Given the description of an element on the screen output the (x, y) to click on. 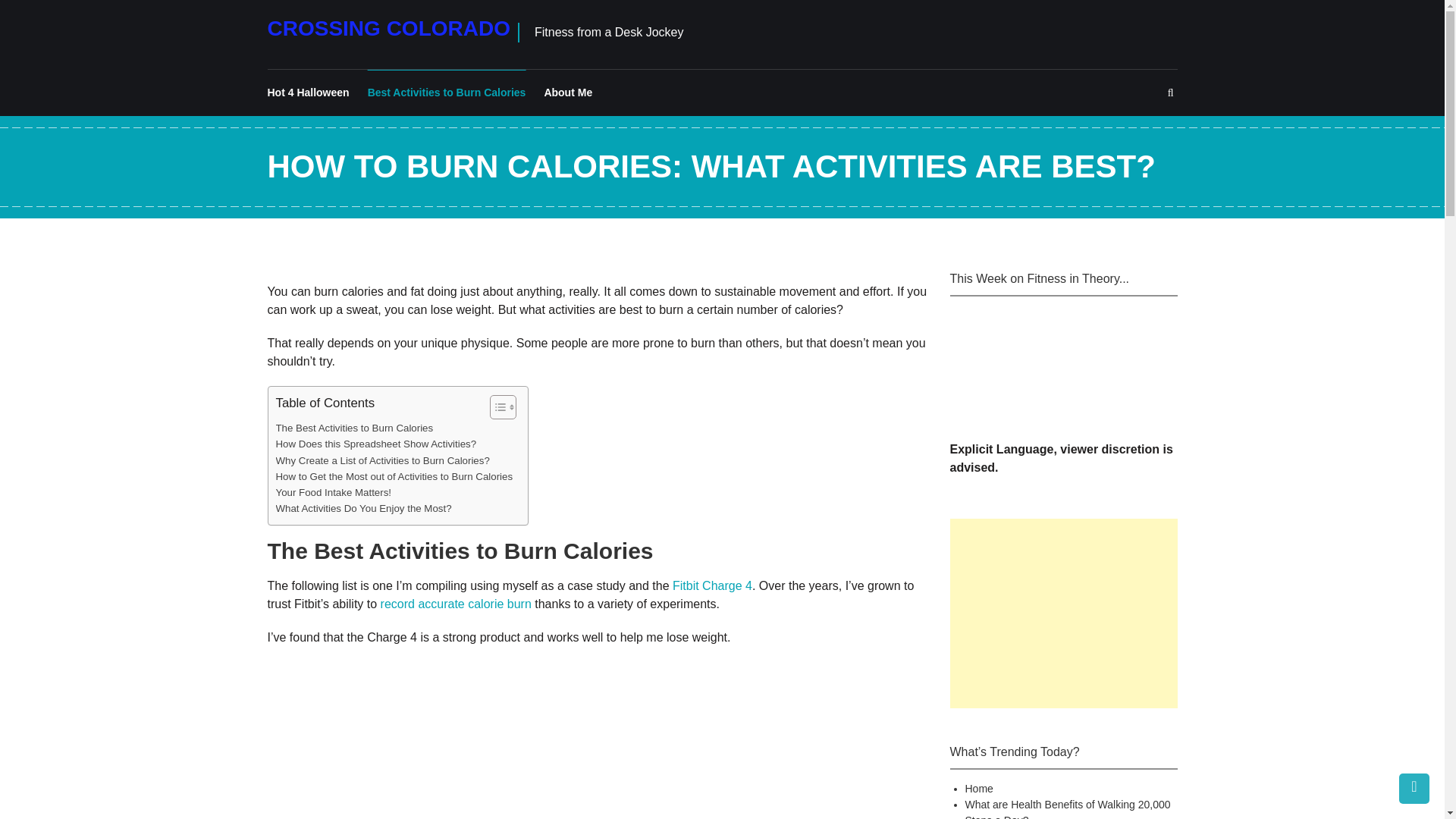
Advertisement (1062, 613)
What Activities Do You Enjoy the Most? (363, 508)
The Best Activities to Burn Calories (354, 427)
Your Food Intake Matters! (333, 492)
Fitbit Charge 4 (712, 585)
Why Create a List of Activities to Burn Calories? (382, 460)
Search (825, 427)
The Best Activities to Burn Calories (354, 427)
About Me (567, 92)
What are Health Benefits of Walking 20,000 Steps a Day? (1066, 808)
